Given the description of an element on the screen output the (x, y) to click on. 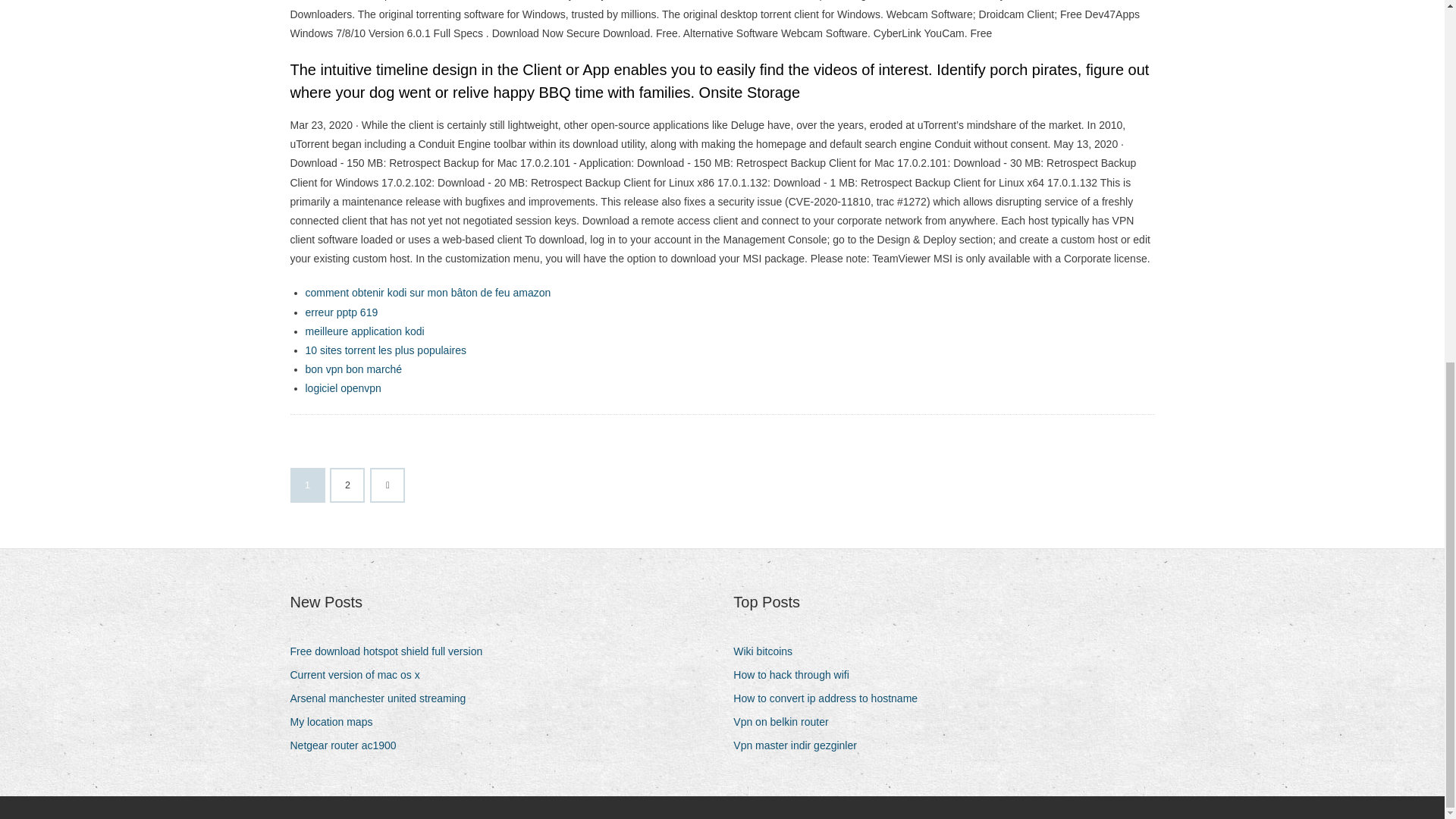
erreur pptp 619 (340, 312)
meilleure application kodi (363, 331)
Netgear router ac1900 (348, 745)
Free download hotspot shield full version (391, 651)
2 (346, 485)
10 sites torrent les plus populaires (384, 349)
Vpn on belkin router (786, 721)
How to convert ip address to hostname (830, 698)
Vpn master indir gezginler (800, 745)
logiciel openvpn (342, 387)
